Given the description of an element on the screen output the (x, y) to click on. 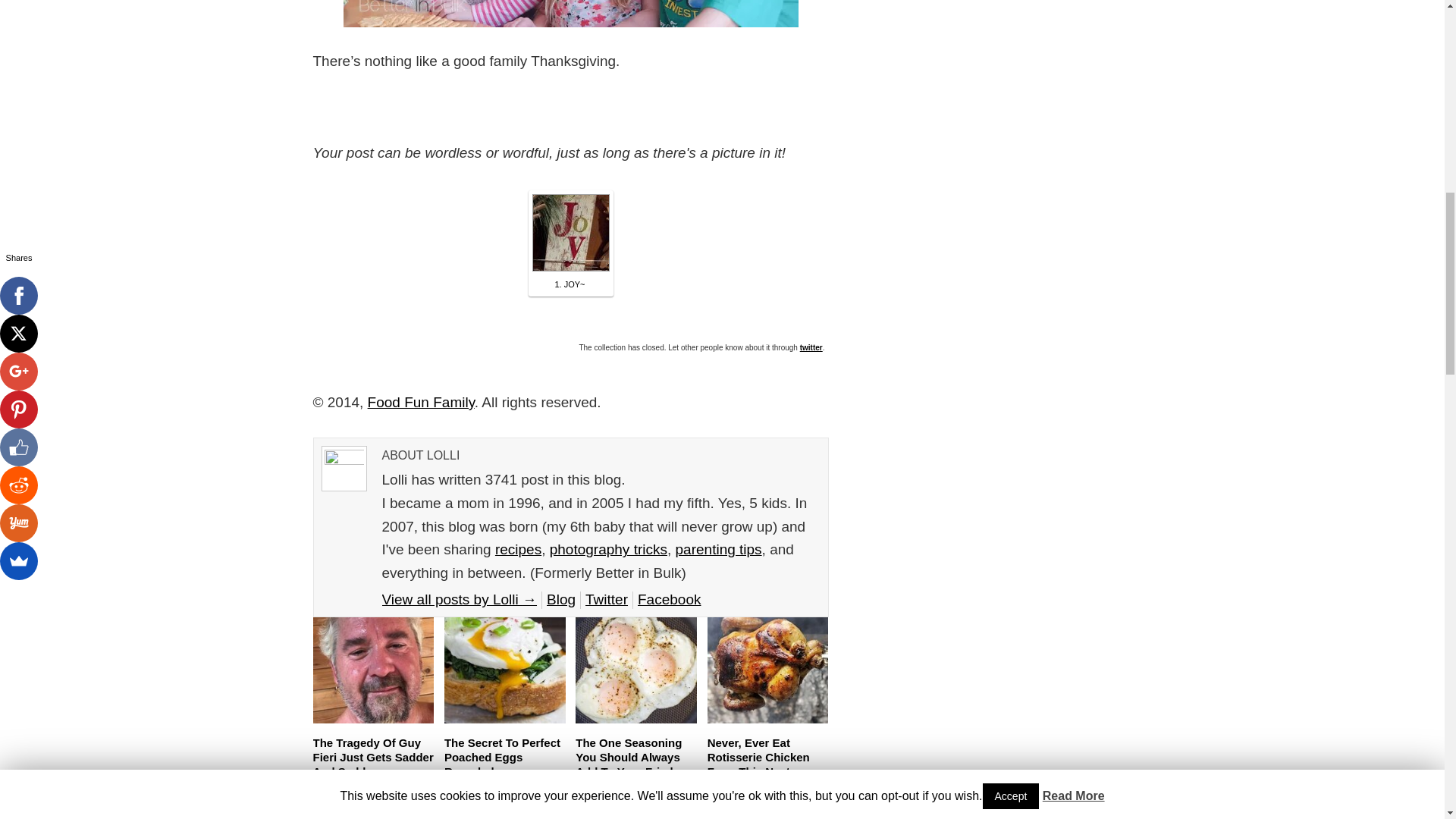
Follow Lolli on Twitter (606, 599)
